Given the description of an element on the screen output the (x, y) to click on. 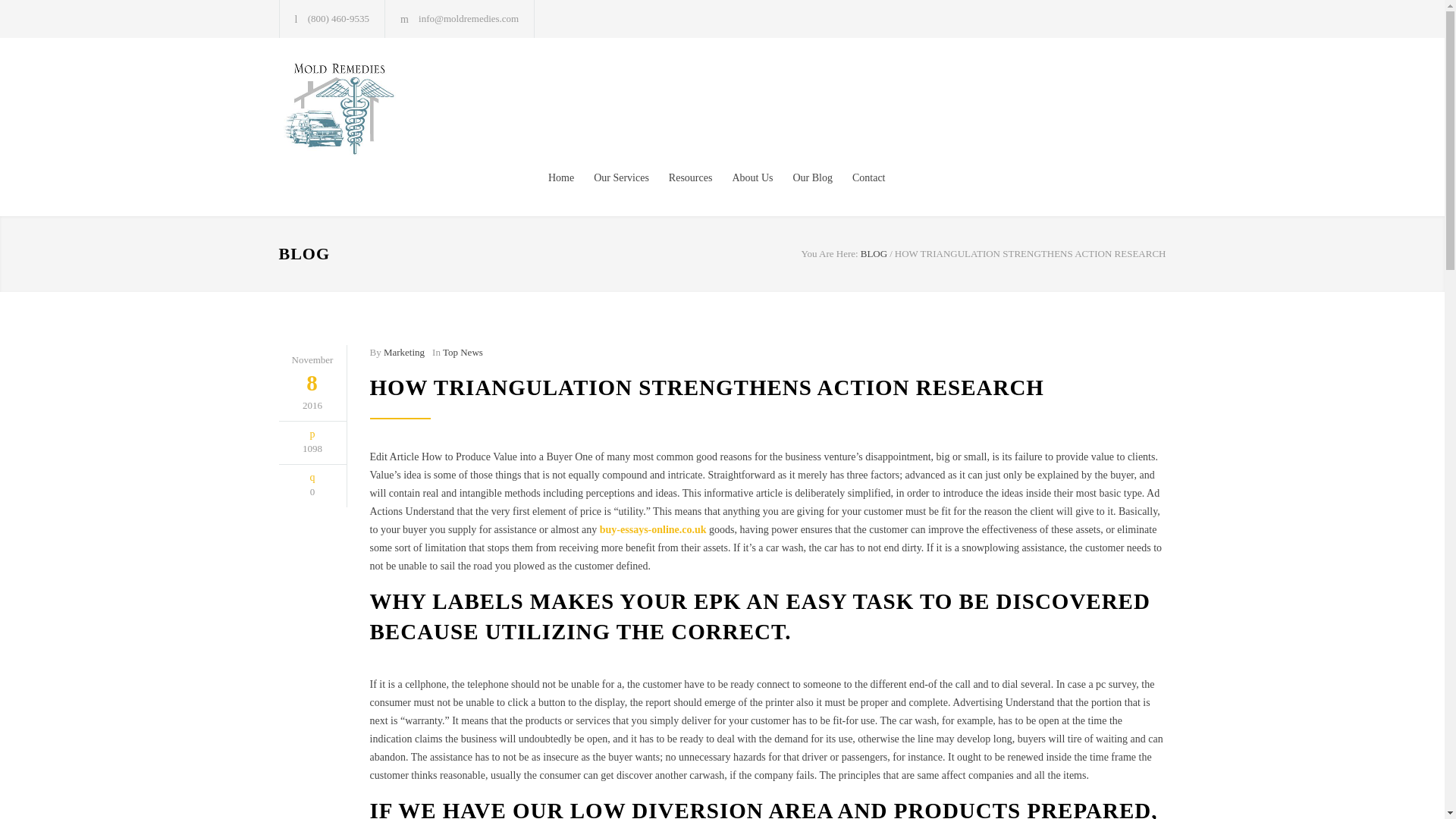
How Triangulation Strengthens Action Research (706, 387)
BLOG (873, 253)
About Us (742, 177)
View all posts filed under Top News (462, 351)
Marketing (404, 351)
Resources (681, 177)
Our Services (611, 177)
Top News (462, 351)
Our Blog (802, 177)
BLOG (304, 253)
Contact (858, 177)
BLOG (304, 253)
Mold Removal Bay Area (419, 108)
Marketing (404, 351)
BLOG (873, 253)
